Given the description of an element on the screen output the (x, y) to click on. 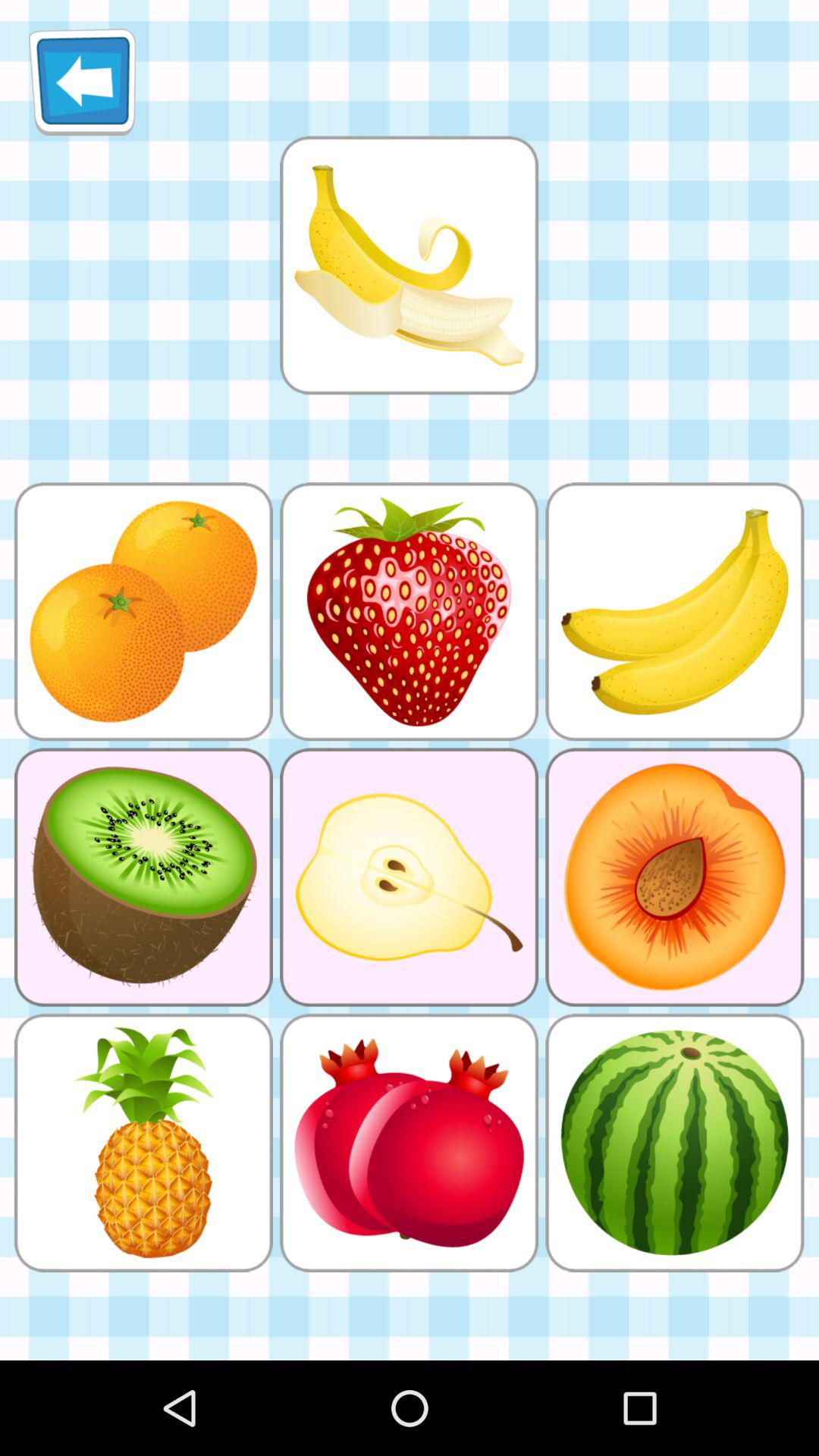
go back (82, 82)
